Given the description of an element on the screen output the (x, y) to click on. 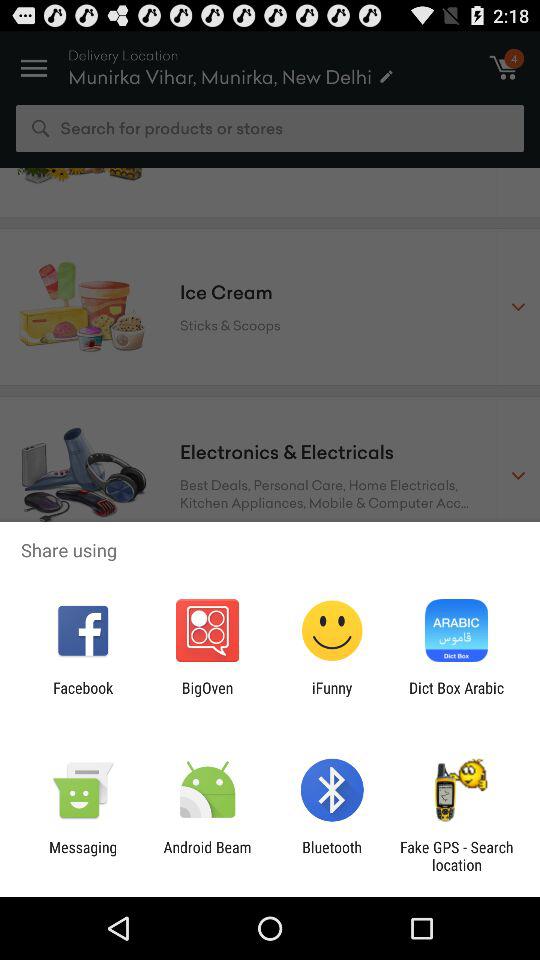
turn off the app to the right of the bluetooth icon (456, 856)
